Given the description of an element on the screen output the (x, y) to click on. 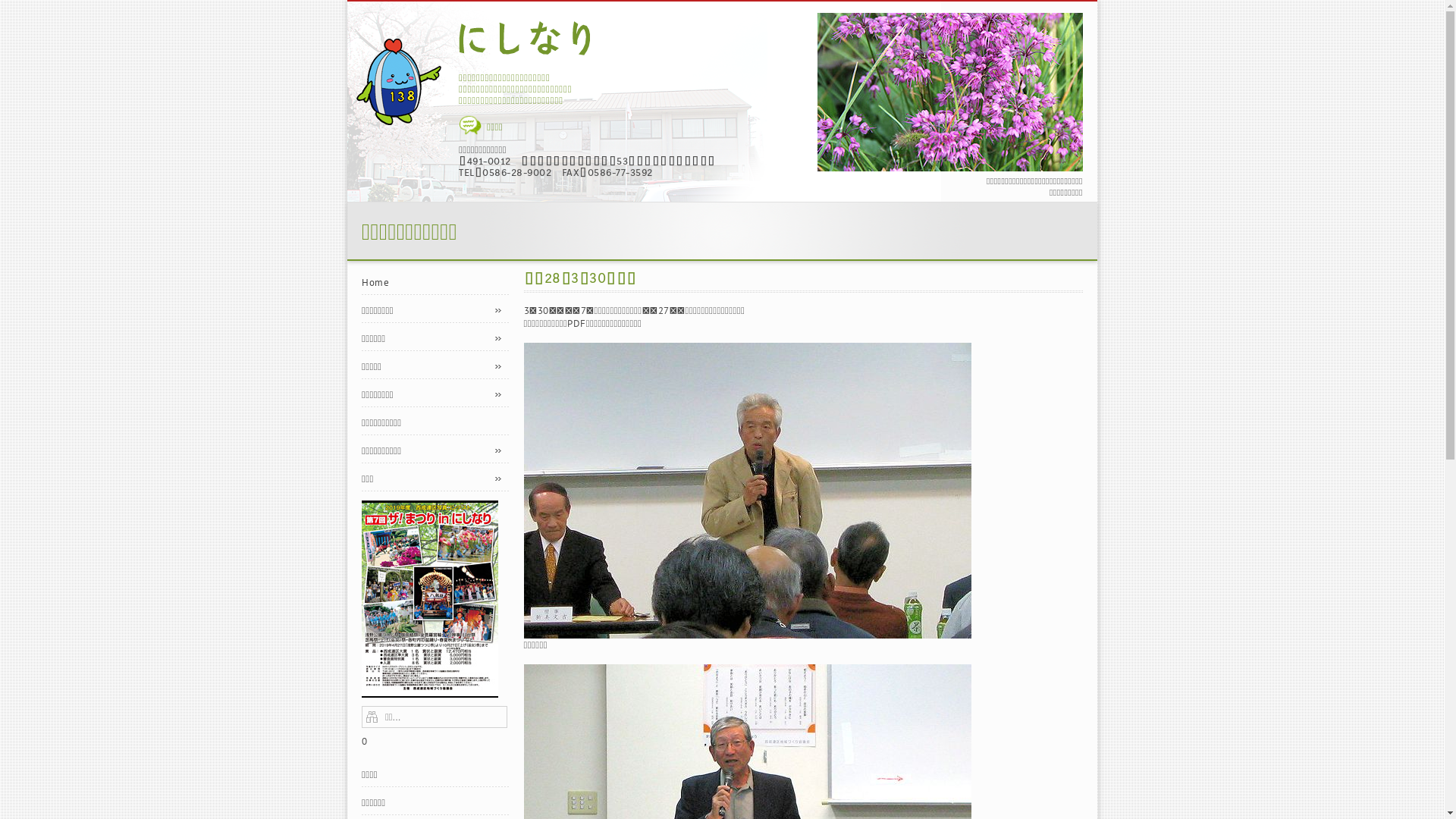
Home Element type: text (434, 282)
